Given the description of an element on the screen output the (x, y) to click on. 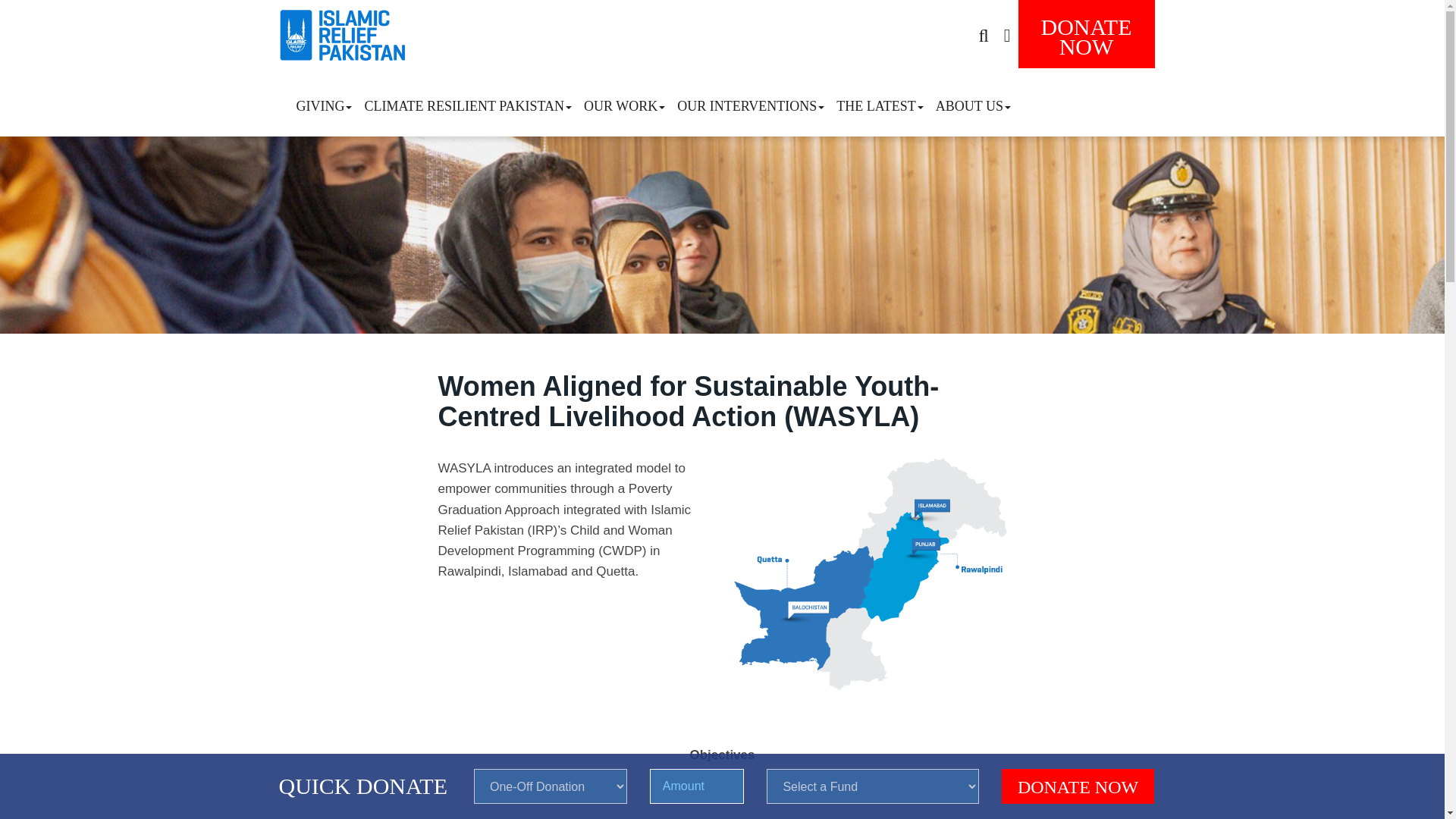
GIVING (1085, 33)
OUR INTERVENTIONS (323, 101)
ABOUT US (750, 101)
CLIMATE RESILIENT PAKISTAN (973, 101)
Donate Now (468, 101)
OUR WORK (1077, 786)
THE LATEST (624, 101)
